Given the description of an element on the screen output the (x, y) to click on. 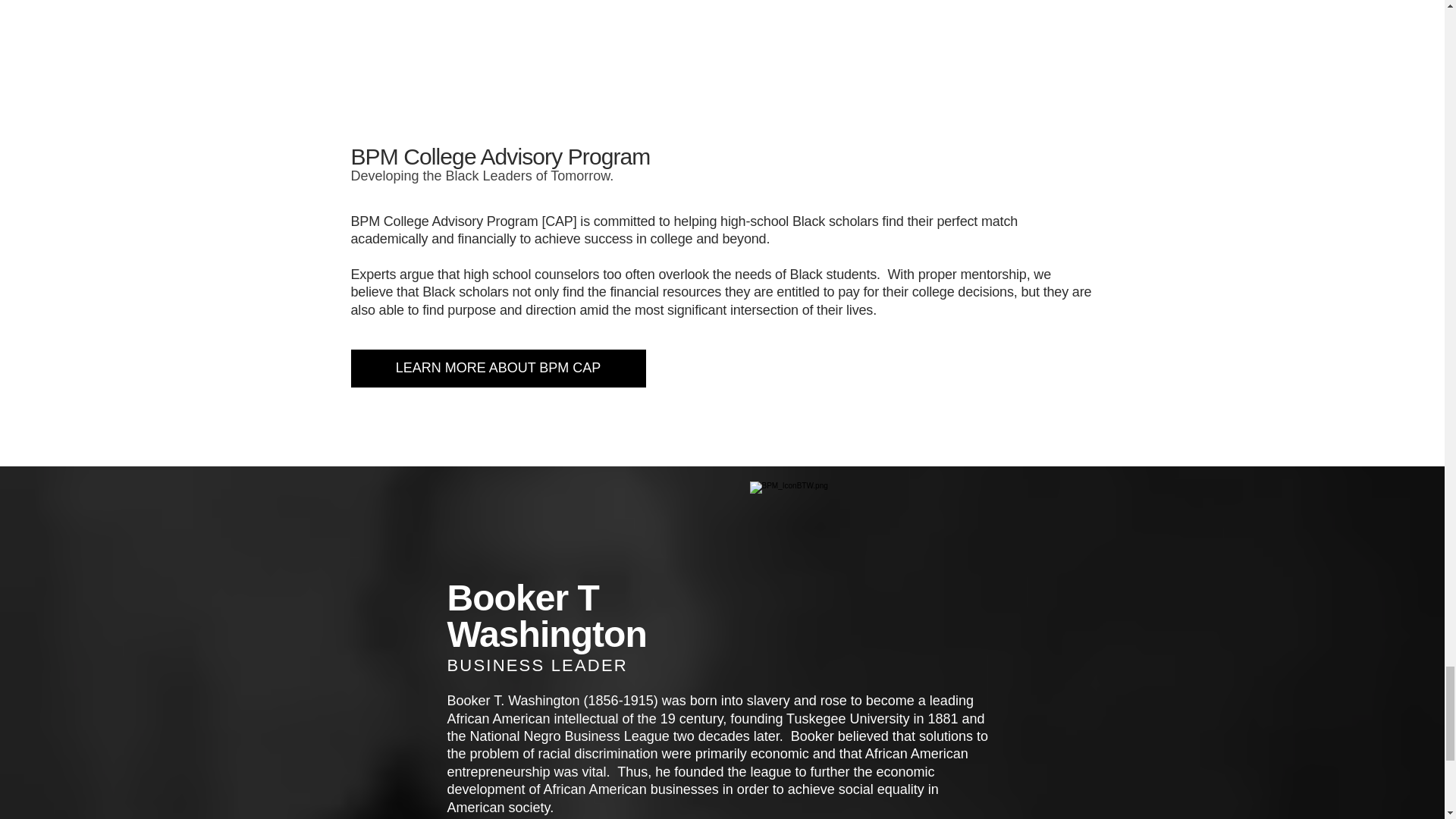
LEARN MORE ABOUT BPM CAP (497, 368)
